Given the description of an element on the screen output the (x, y) to click on. 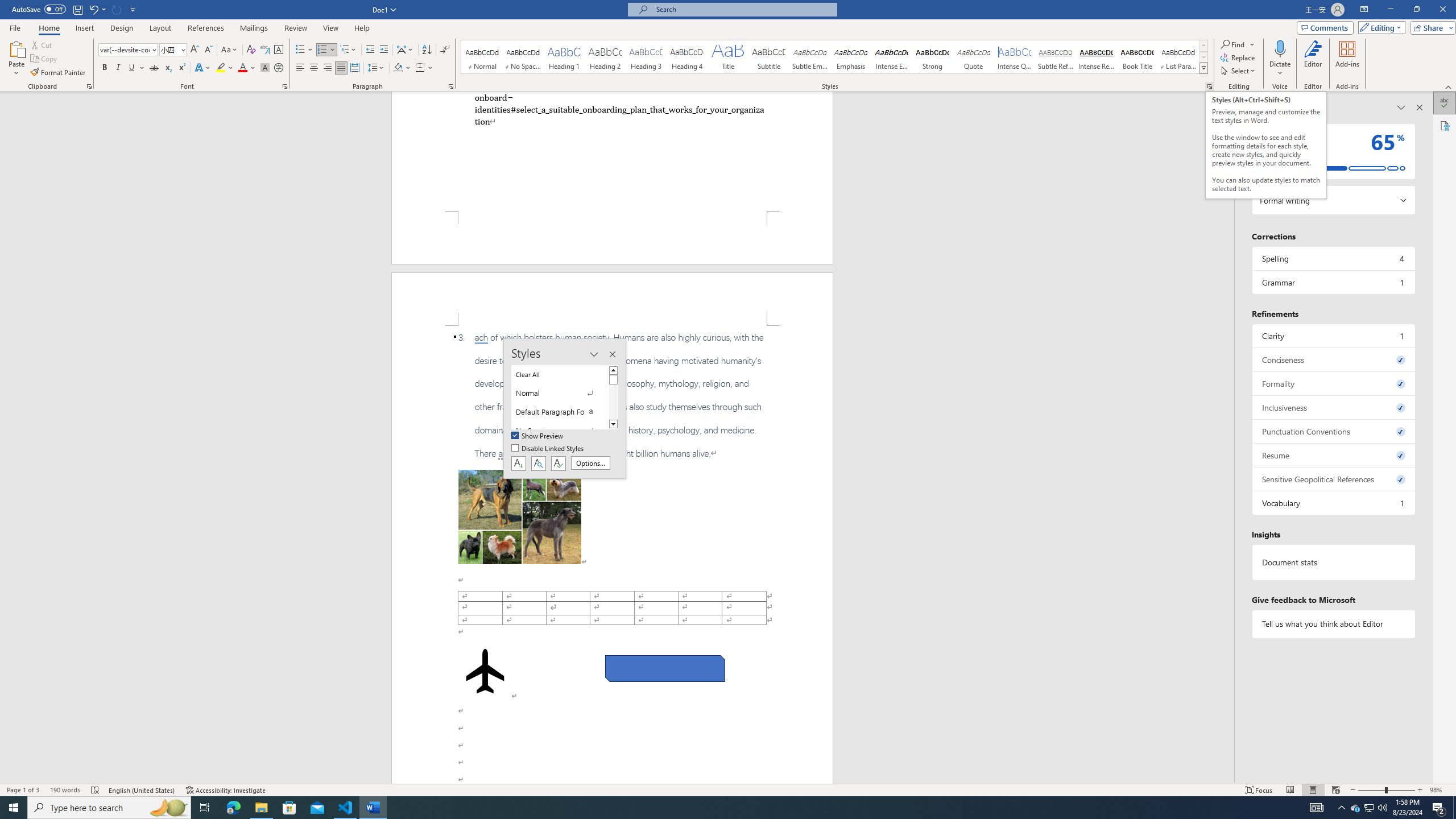
Underline (131, 67)
Text Effects and Typography (202, 67)
Clear Formatting (250, 49)
Undo Apply Quick Style (96, 9)
Styles (1203, 67)
Language English (United States) (141, 790)
Close pane (1419, 107)
Paste (16, 48)
Show/Hide Editing Marks (444, 49)
Default Paragraph Font (559, 411)
3. (611, 395)
Line and Paragraph Spacing (376, 67)
Quick Access Toolbar (74, 9)
Editor (1312, 58)
